Given the description of an element on the screen output the (x, y) to click on. 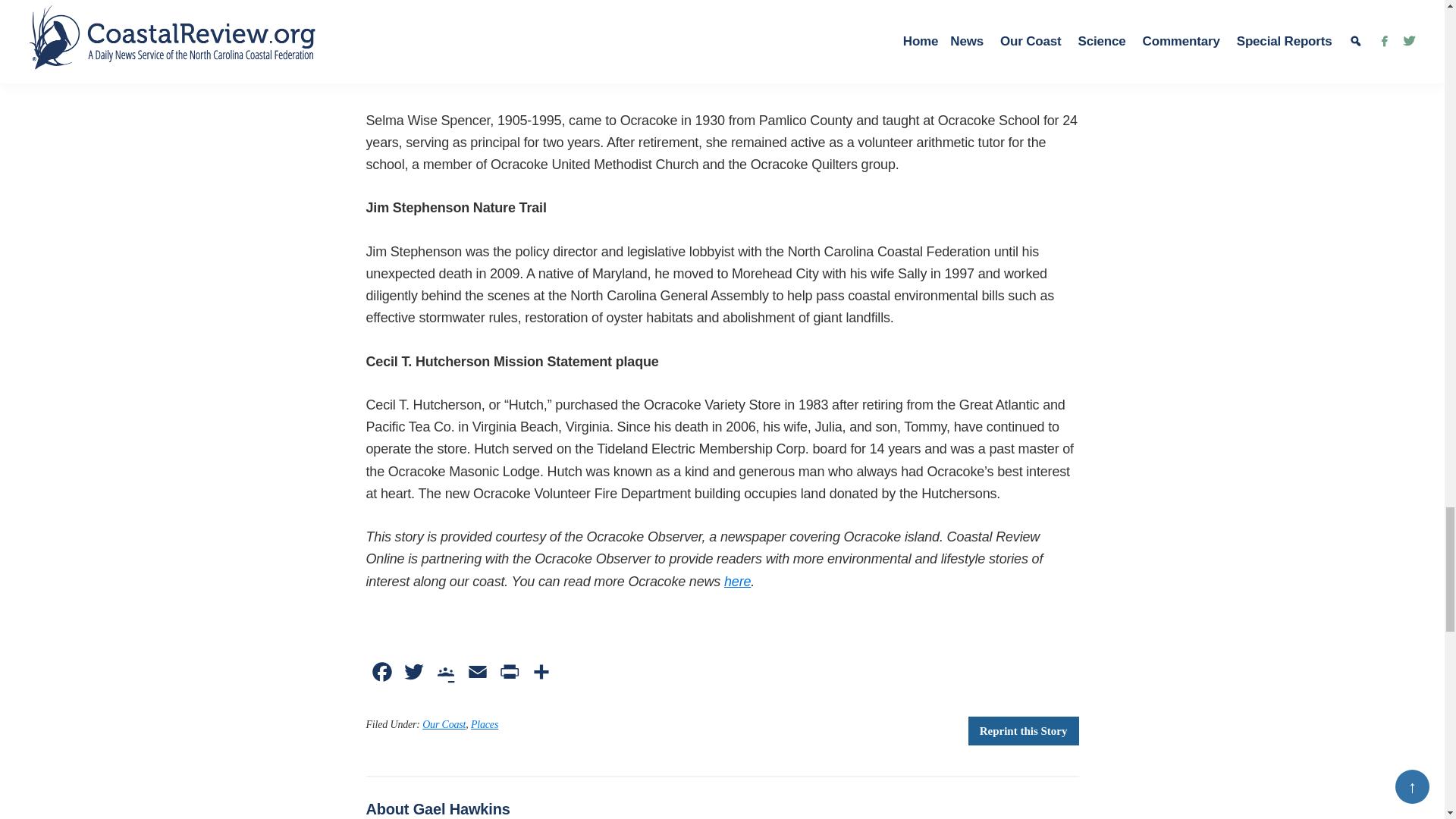
Email (477, 676)
Google Classroom (445, 676)
PrintFriendly (508, 676)
Facebook (381, 676)
Twitter (413, 676)
